Given the description of an element on the screen output the (x, y) to click on. 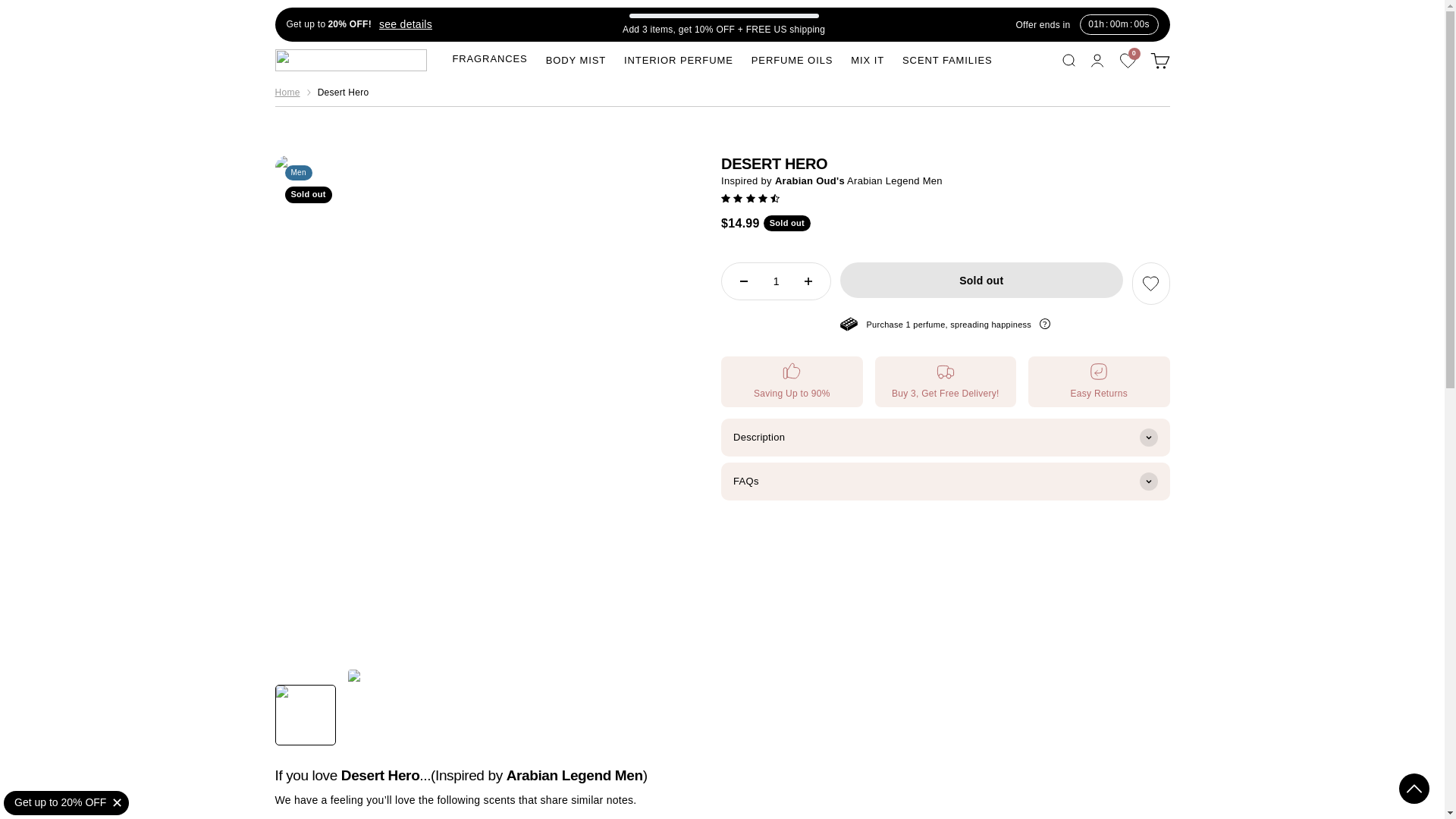
MIX IT (866, 60)
see details (401, 24)
PERFUME OILS (791, 60)
INTERIOR PERFUME (1128, 60)
Home (678, 60)
Fragrances Oil (287, 92)
Open search (350, 60)
SCENT FAMILIES (1068, 59)
BODY MIST (947, 60)
Skip to content (575, 60)
1 (1159, 59)
